Given the description of an element on the screen output the (x, y) to click on. 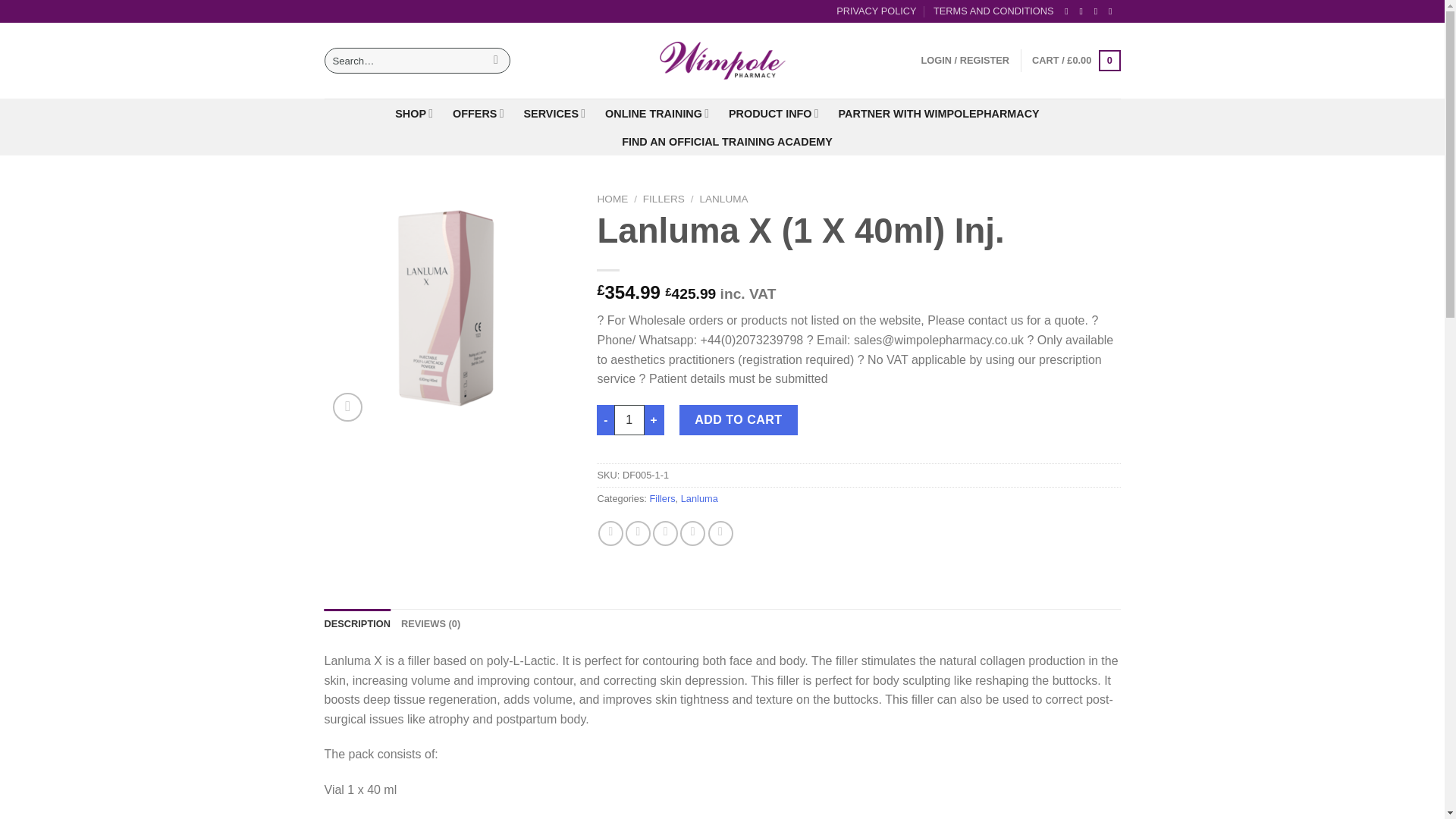
Search (495, 60)
TERMS AND CONDITIONS (993, 11)
1 (629, 419)
Share on Twitter (638, 533)
PRIVACY POLICY (876, 11)
Zoom (347, 407)
Wimpole Pharmacy - One-stop pharmacy for aesthetics supplies (722, 60)
SHOP (413, 112)
Cart (1075, 60)
Share on Facebook (610, 533)
